Given the description of an element on the screen output the (x, y) to click on. 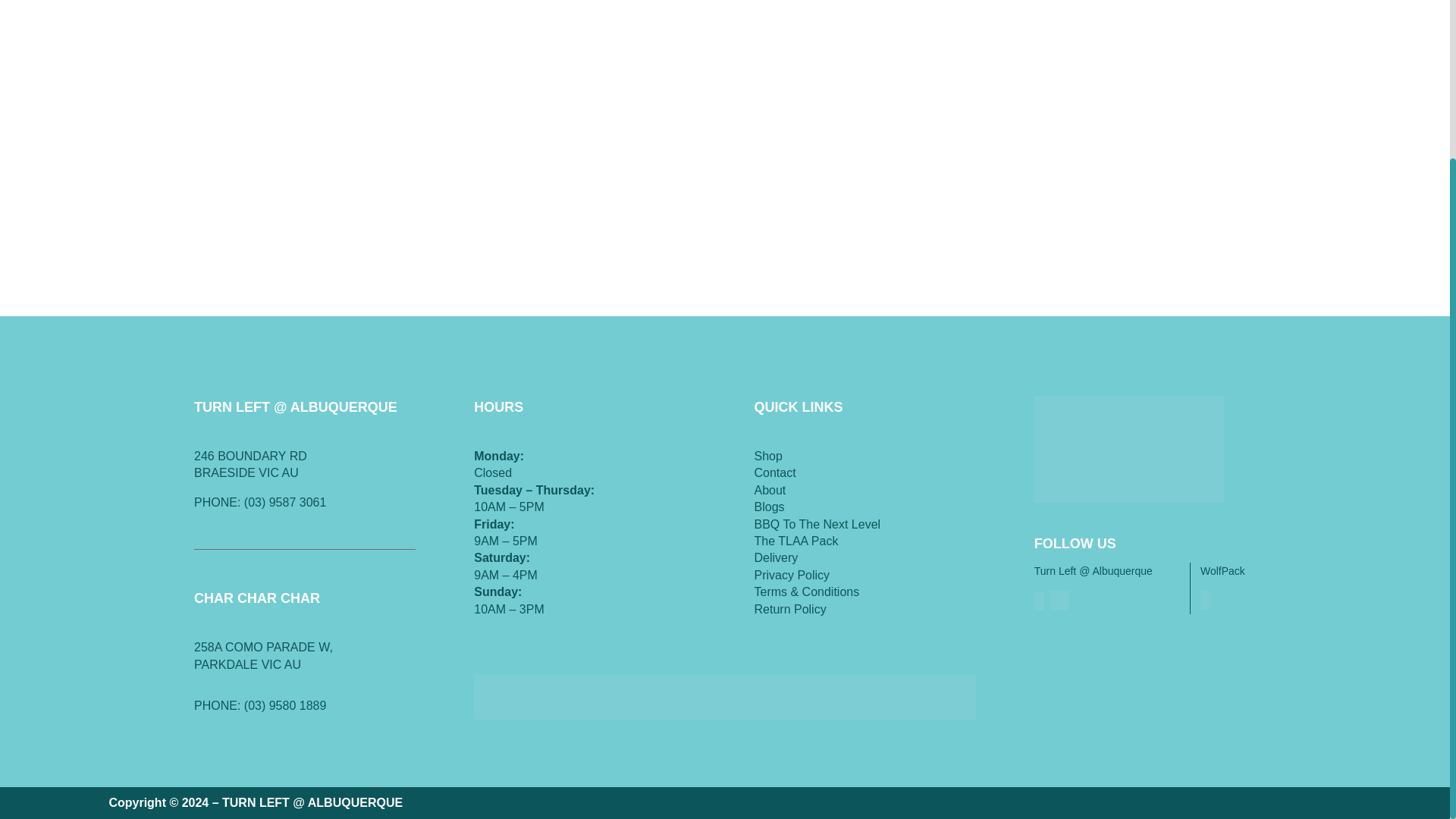
paymenticons (724, 696)
